Given the description of an element on the screen output the (x, y) to click on. 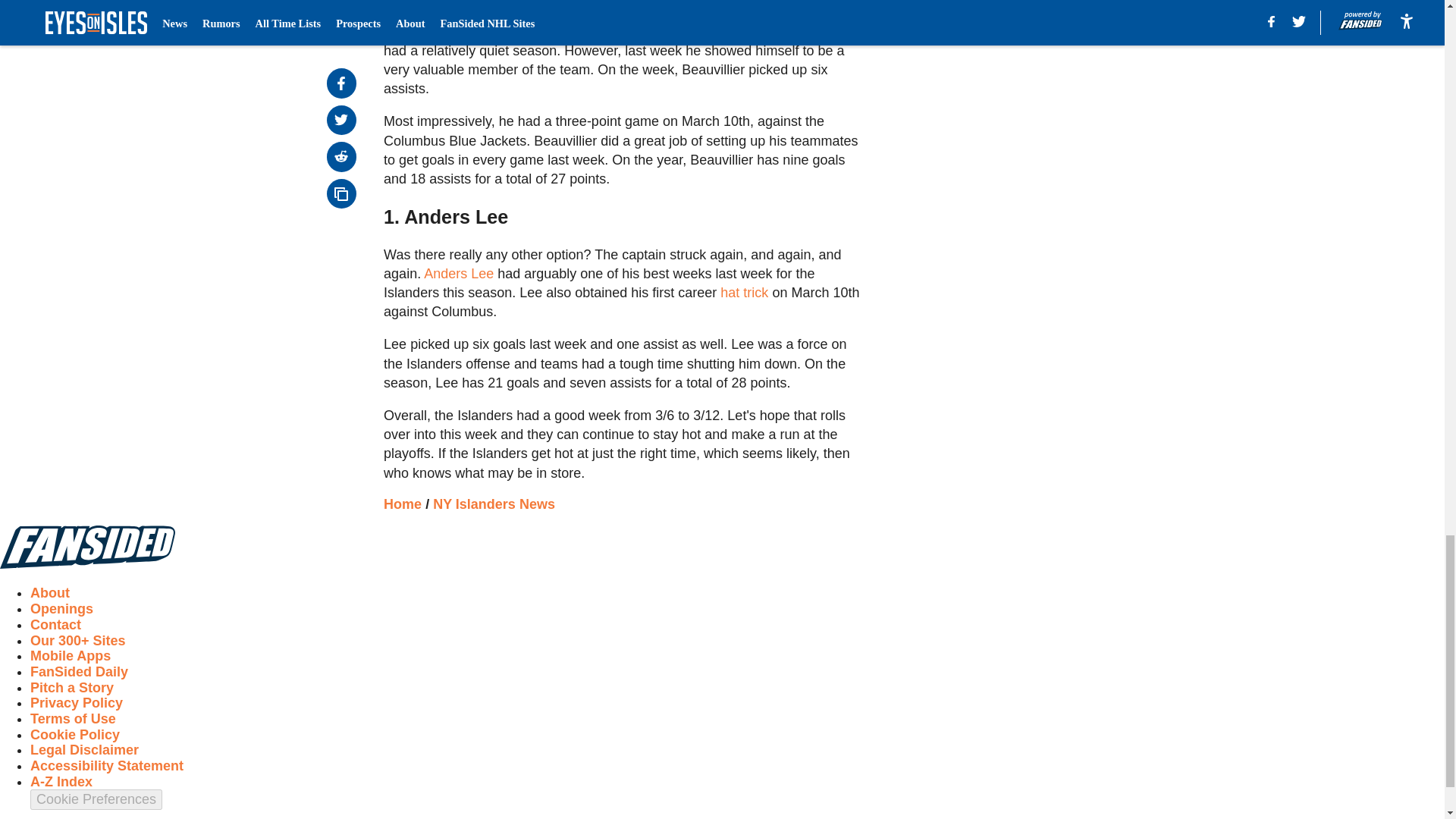
About (49, 592)
Openings (61, 608)
NY Islanders News (493, 503)
Contact (55, 624)
Mobile Apps (70, 655)
FanSided Daily (79, 671)
Anders Lee (458, 273)
Anthony Beauvillier (688, 31)
hat trick (744, 292)
Home (403, 503)
